Given the description of an element on the screen output the (x, y) to click on. 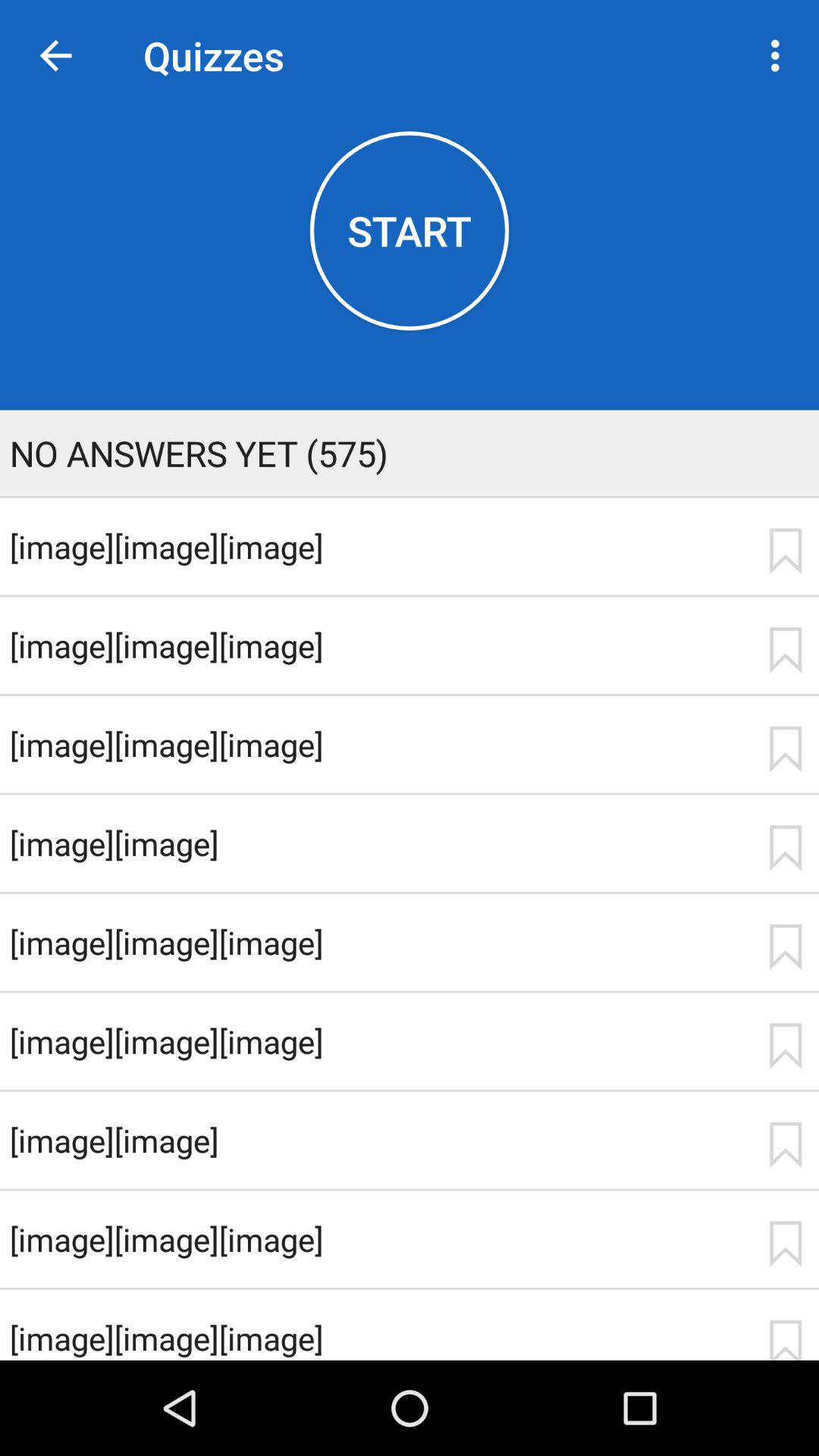
turn off item next to quizzes icon (55, 55)
